Given the description of an element on the screen output the (x, y) to click on. 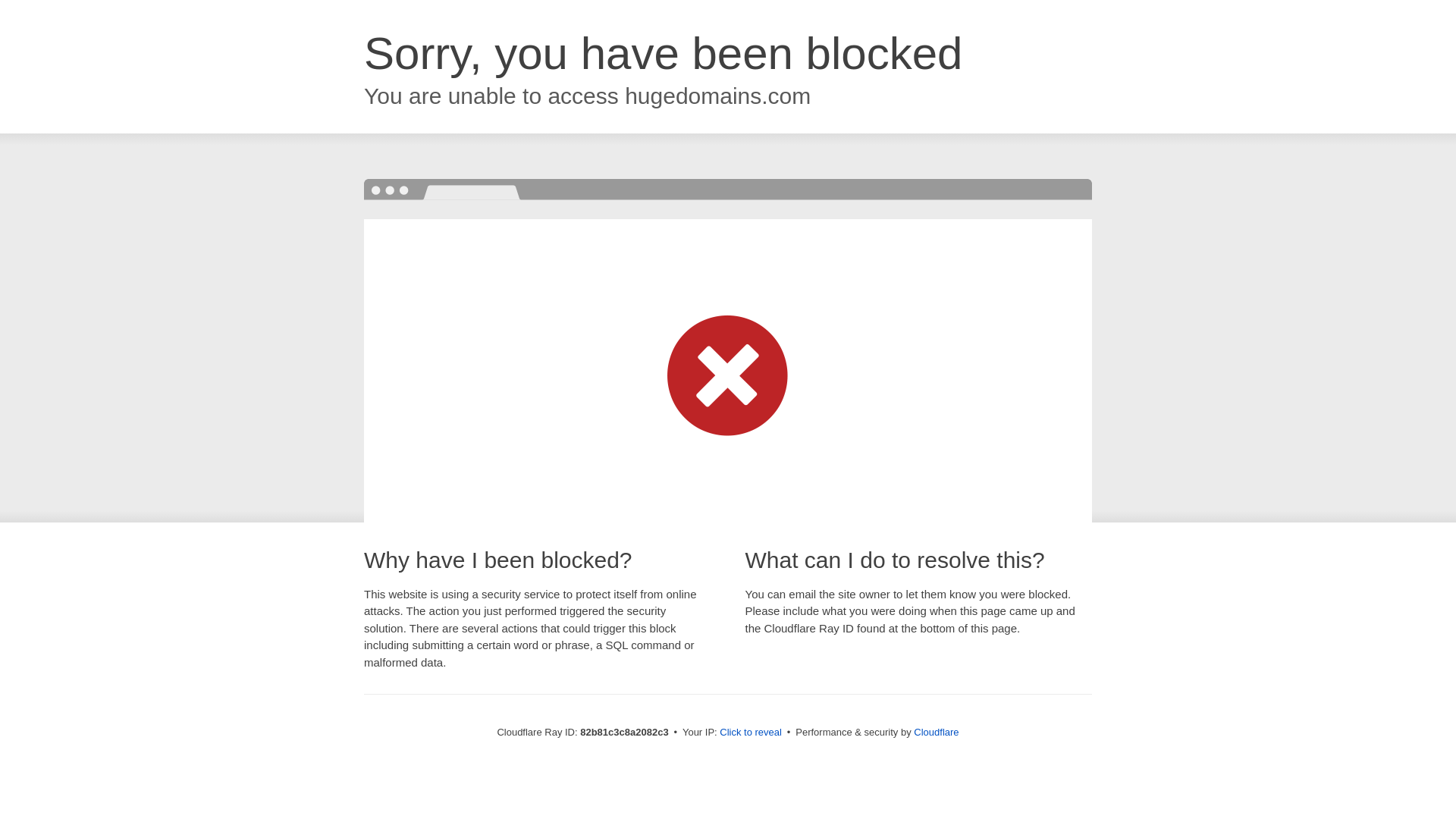
Click to reveal Element type: text (750, 732)
Cloudflare Element type: text (935, 731)
